Given the description of an element on the screen output the (x, y) to click on. 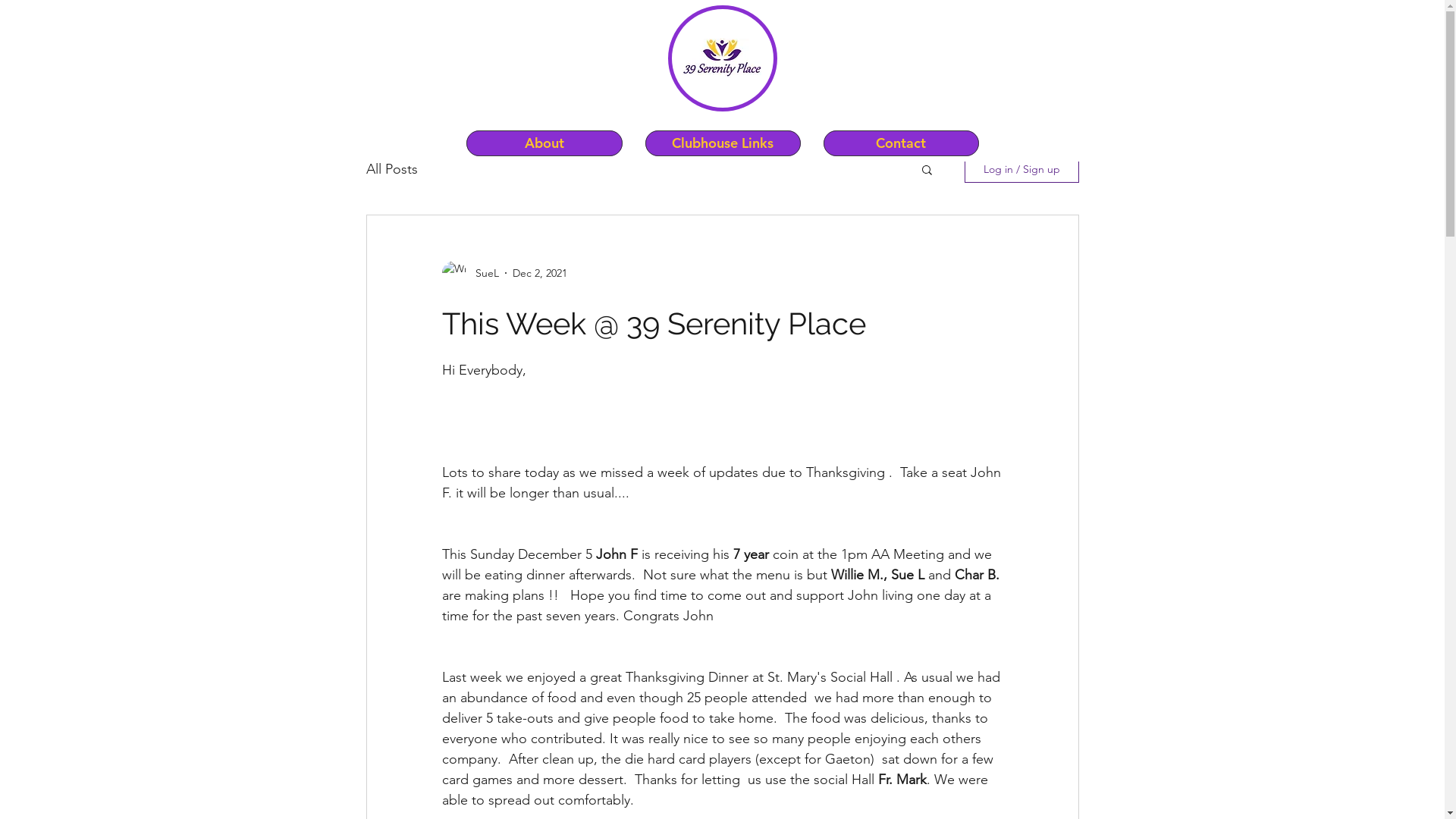
About Element type: text (543, 143)
All Posts Element type: text (391, 168)
Contact Element type: text (901, 143)
Log in / Sign up Element type: text (1021, 168)
